Given the description of an element on the screen output the (x, y) to click on. 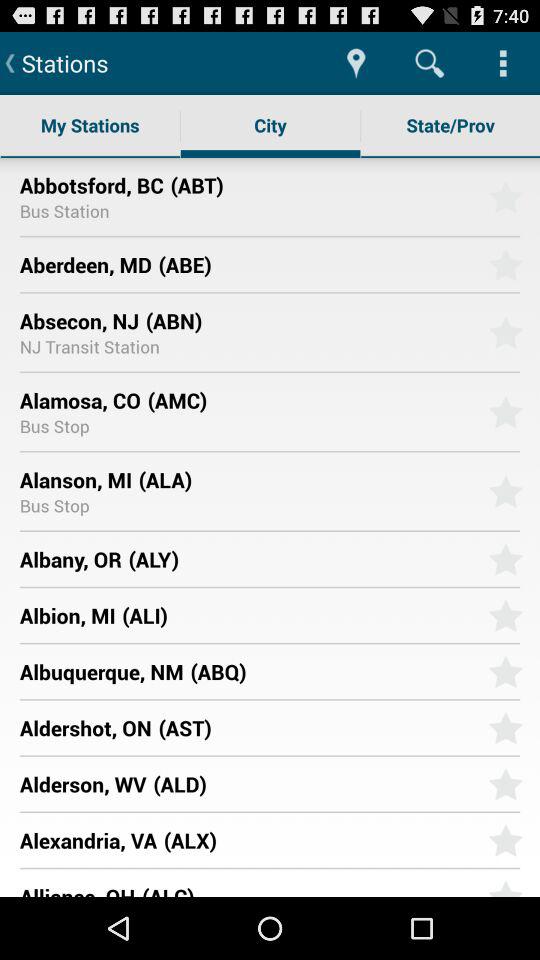
select the icon to the right of the aldershot, on item (316, 727)
